Given the description of an element on the screen output the (x, y) to click on. 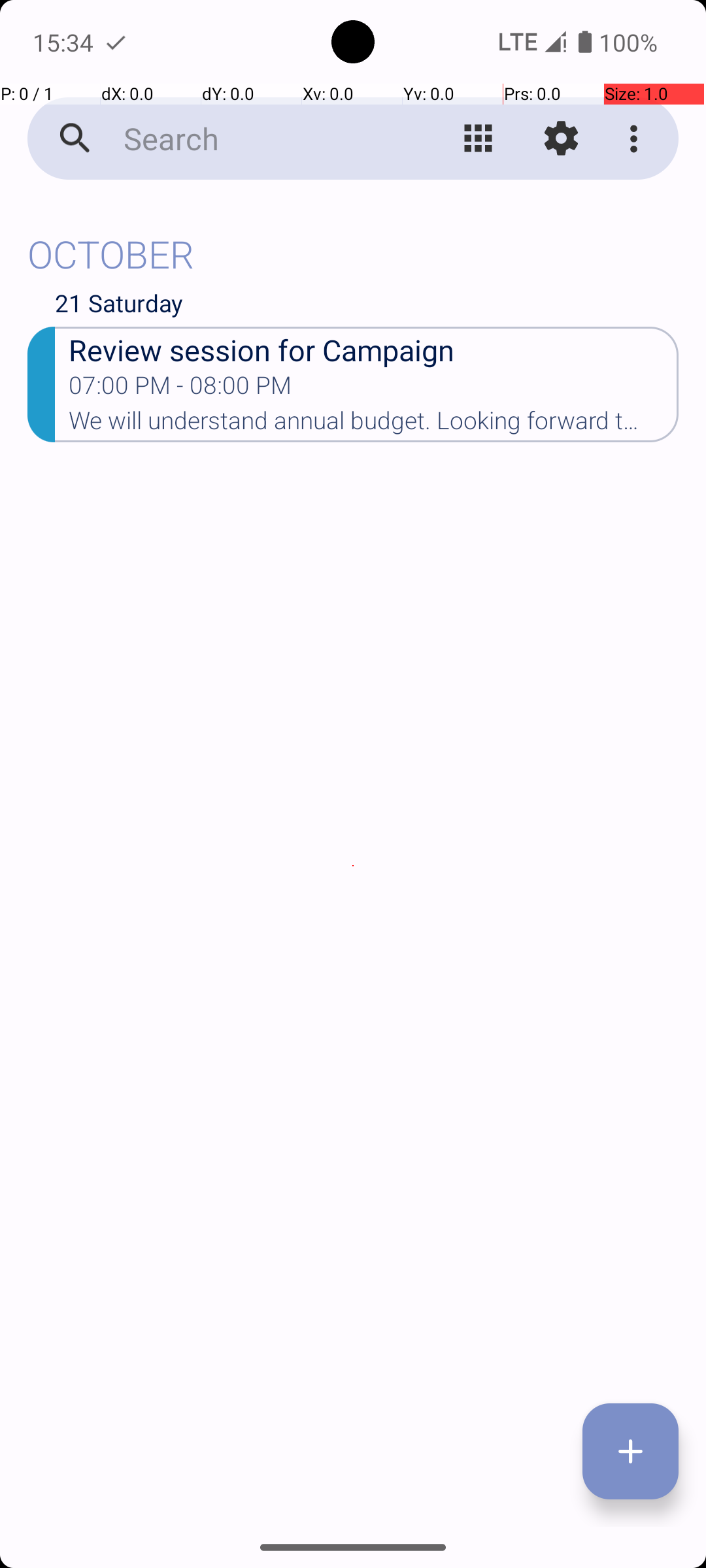
21 Saturday Element type: android.widget.TextView (366, 306)
07:00 PM - 08:00 PM Element type: android.widget.TextView (179, 389)
We will understand annual budget. Looking forward to productive discussions. Element type: android.widget.TextView (373, 424)
